Given the description of an element on the screen output the (x, y) to click on. 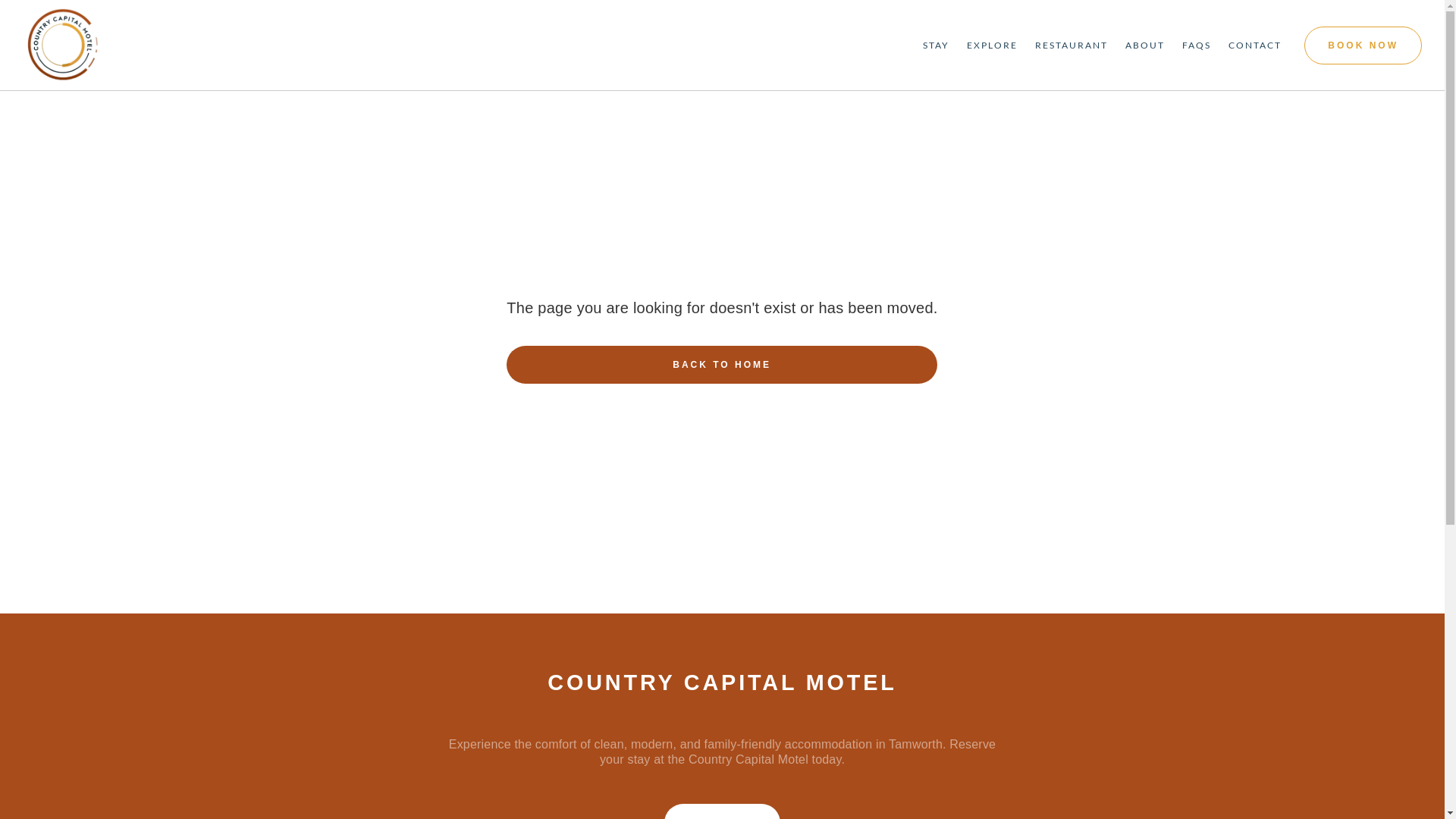
BACK TO HOME Element type: text (721, 364)
RESTAURANT Element type: text (1071, 45)
STAY Element type: text (935, 45)
FAQS Element type: text (1196, 45)
CONTACT Element type: text (1254, 45)
ABOUT Element type: text (1144, 45)
BOOK NOW Element type: text (1362, 44)
EXPLORE Element type: text (991, 45)
